Given the description of an element on the screen output the (x, y) to click on. 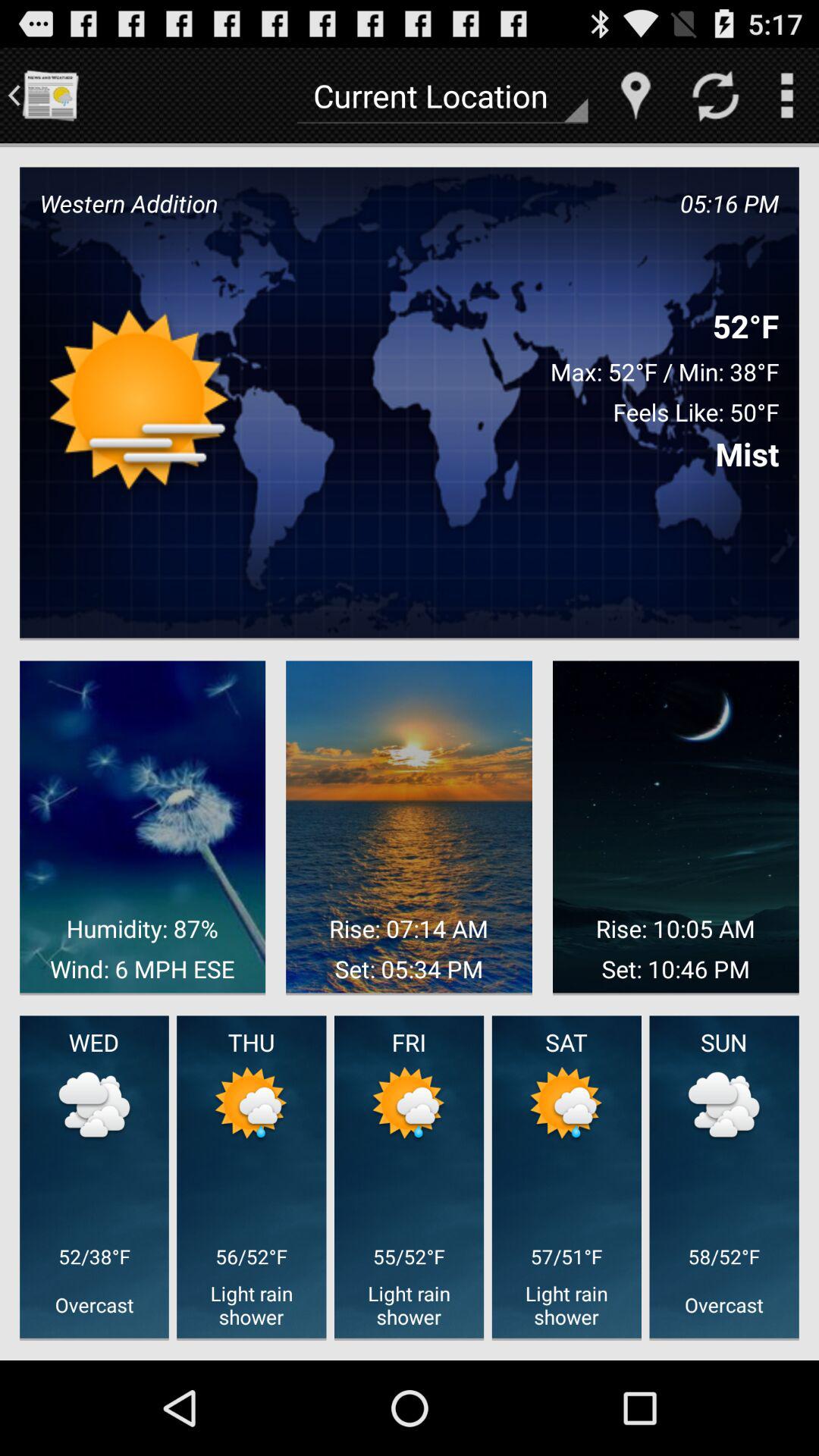
open icon to the left of current location (49, 95)
